Given the description of an element on the screen output the (x, y) to click on. 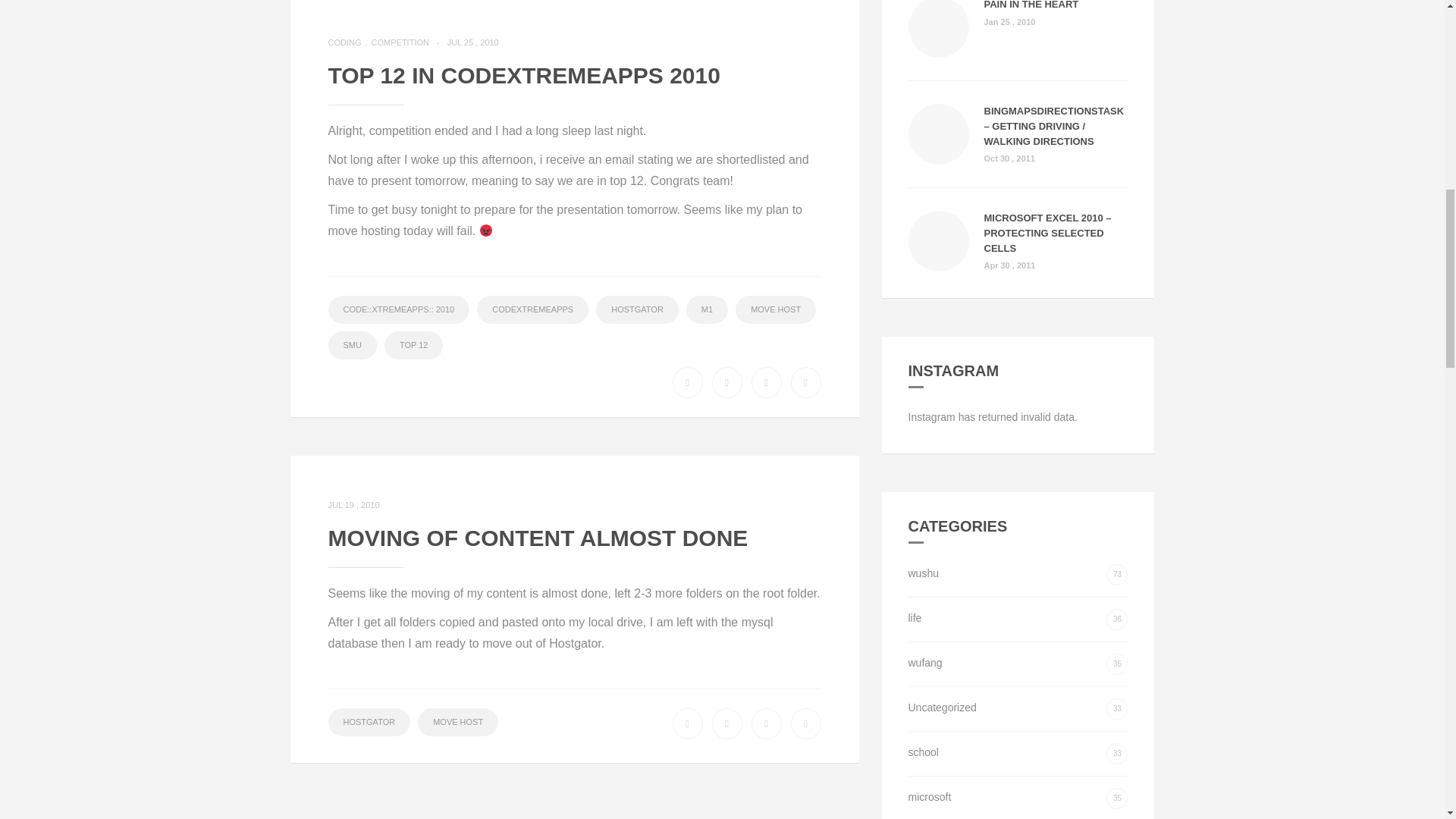
CODEXTREMEAPPS (532, 309)
JUL 25 , 2010 (476, 42)
TOP 12 (414, 345)
CODING (349, 42)
M1 (706, 309)
HOSTGATOR (636, 309)
COMPETITION (408, 42)
SMU (351, 345)
MOVE HOST (775, 309)
CODE::XTREMEAPPS:: 2010 (397, 309)
TOP 12 IN CODEXTREMEAPPS 2010 (523, 75)
